Given the description of an element on the screen output the (x, y) to click on. 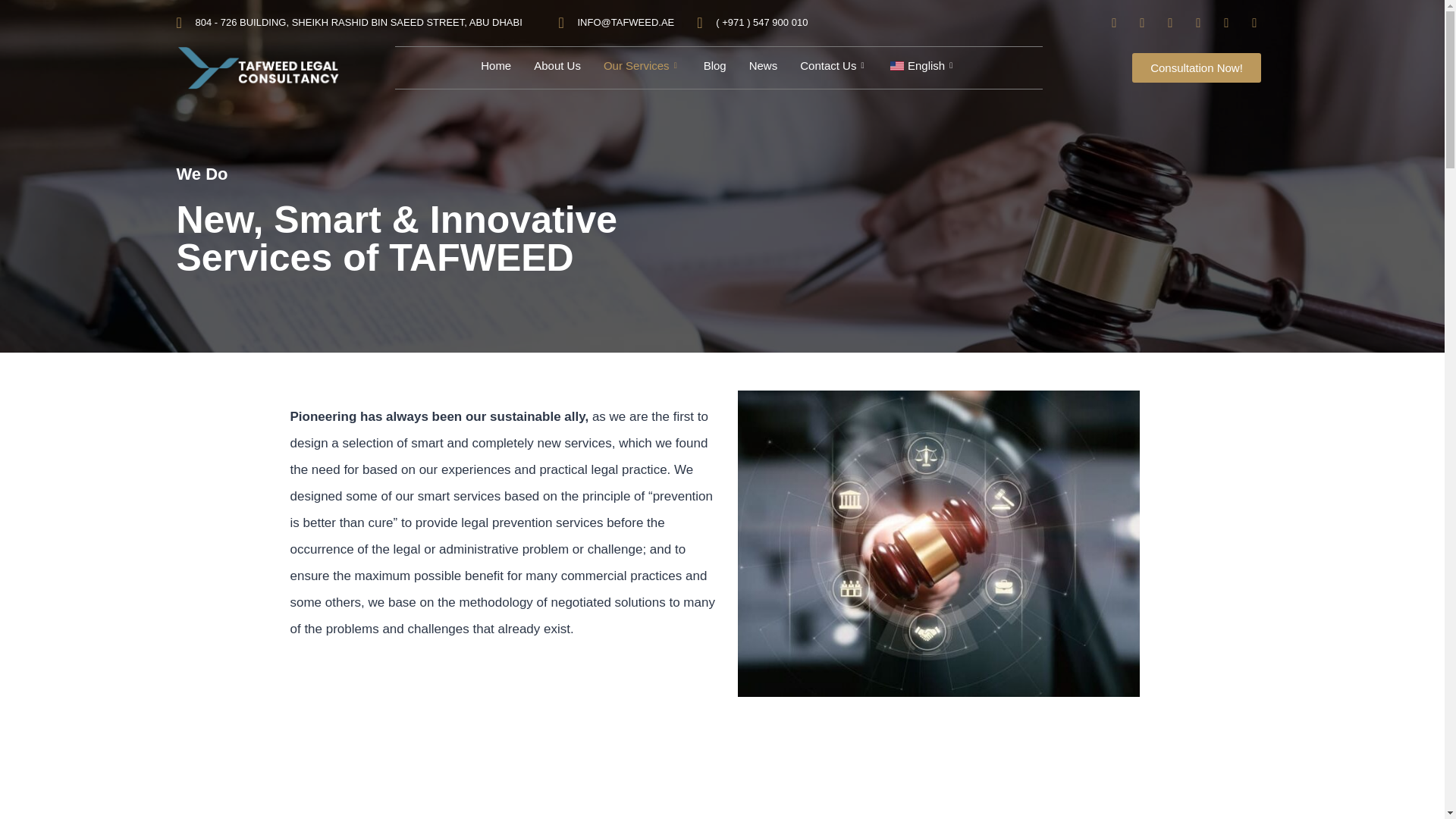
Contact Us (834, 65)
News (763, 65)
Home (495, 65)
About Us (557, 65)
Consultation Now! (1196, 67)
Our Services (642, 65)
English (923, 65)
English (923, 65)
Blog (715, 65)
